Given the description of an element on the screen output the (x, y) to click on. 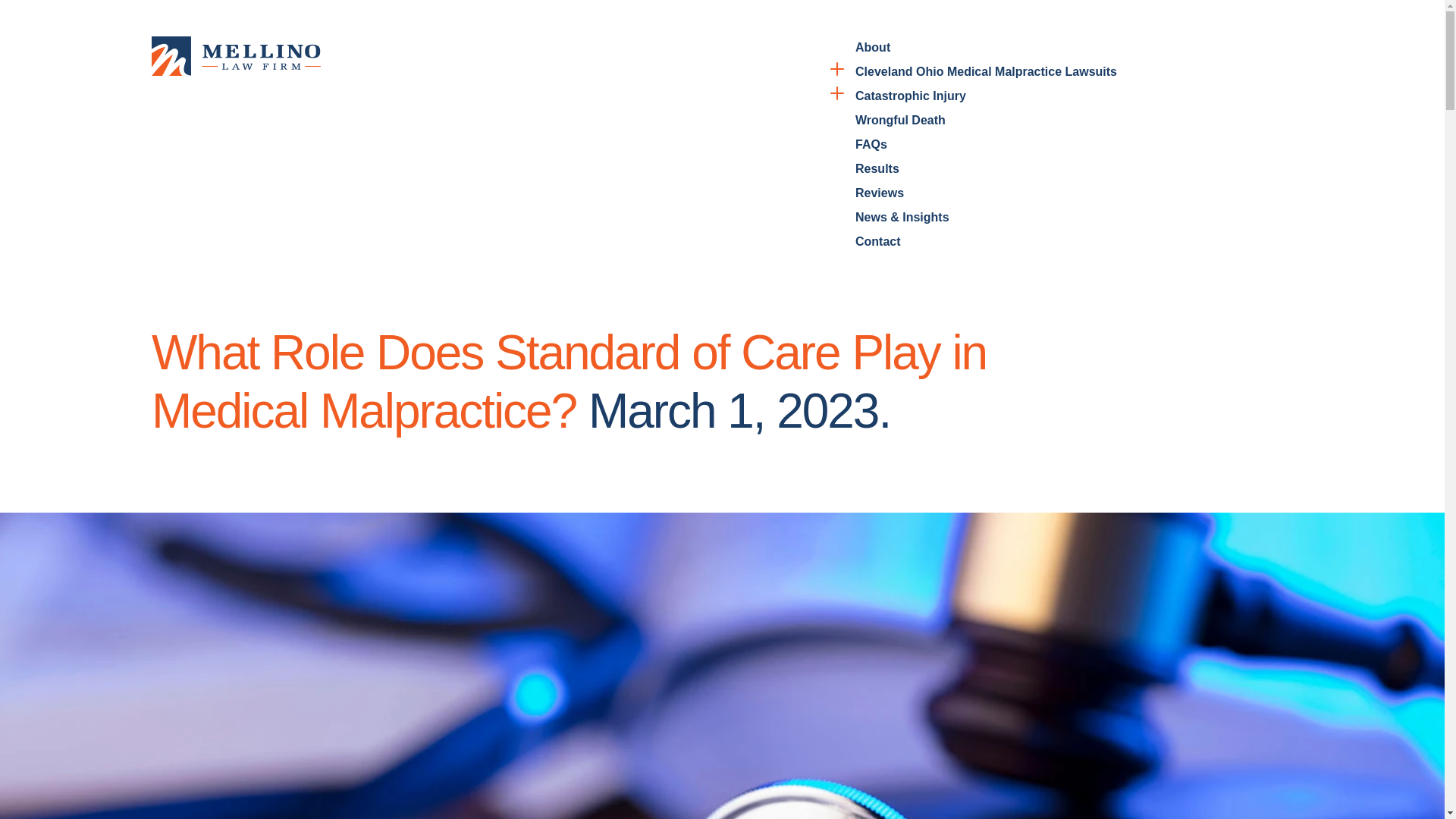
About (872, 47)
Catastrophic Injury (911, 95)
Cleveland Ohio Medical Malpractice Lawsuits (986, 71)
FAQs (871, 144)
Results (877, 168)
Contact (878, 241)
Wrongful Death (900, 119)
Reviews (880, 192)
